Given the description of an element on the screen output the (x, y) to click on. 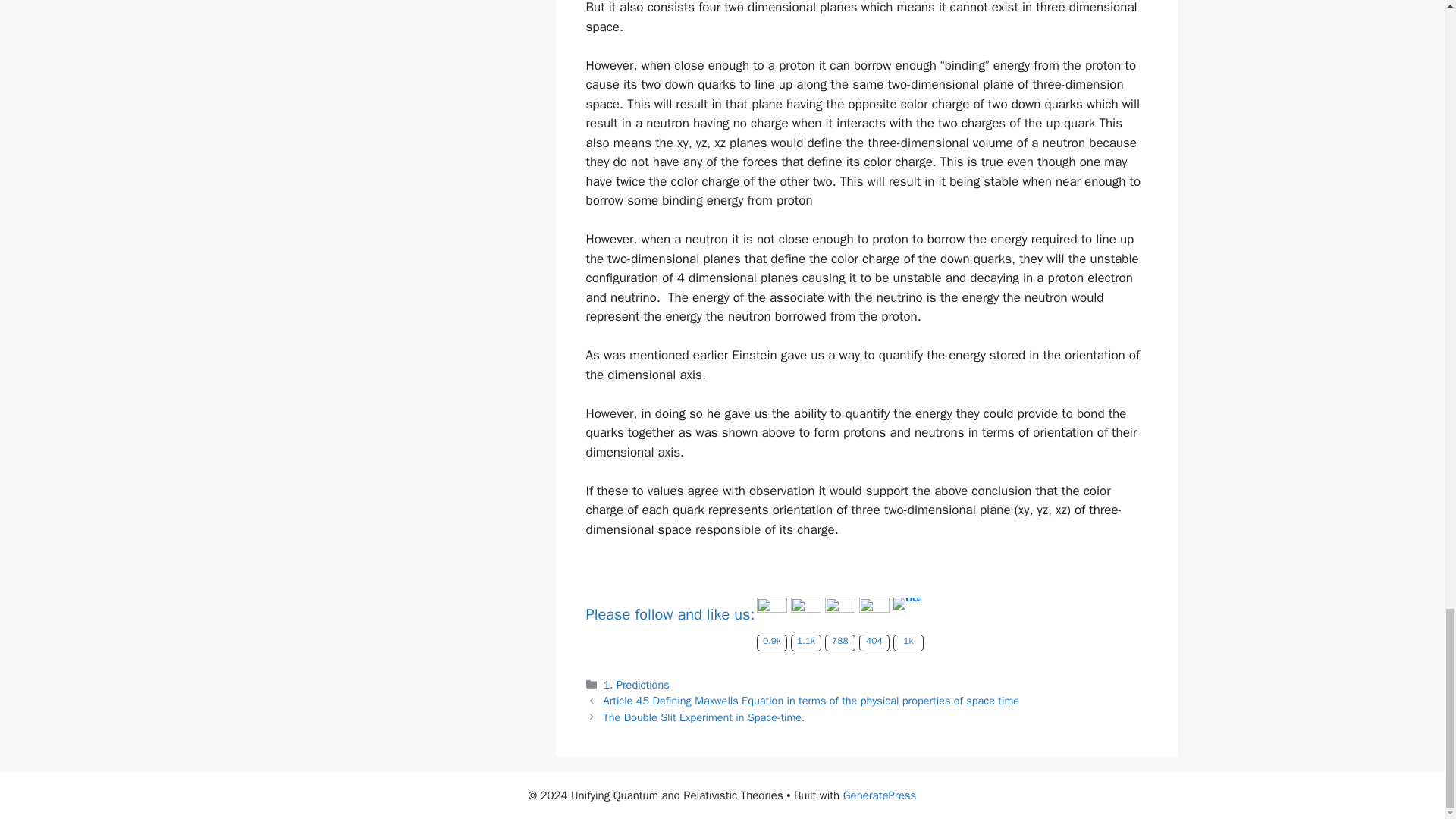
Reddit (908, 603)
The Double Slit Experiment in Space-time. (704, 716)
1. Predictions (636, 684)
GeneratePress (880, 795)
